Given the description of an element on the screen output the (x, y) to click on. 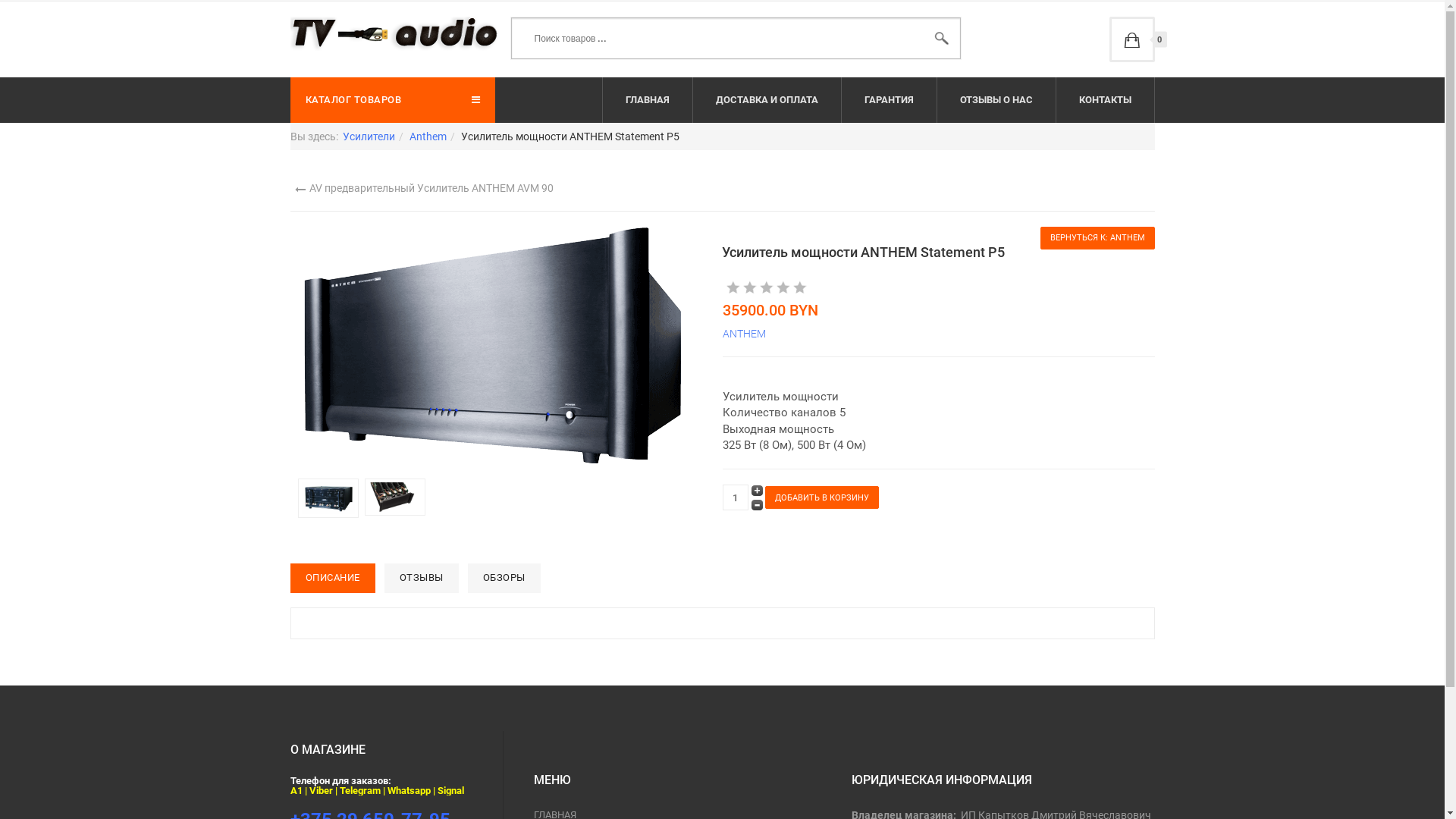
1 Element type: text (732, 287)
0 Element type: text (1131, 39)
5 Element type: text (766, 287)
ANTHEM Element type: text (743, 333)
3 Element type: text (749, 287)
2 Element type: text (741, 287)
e90aff88c6dbd11f08cf2a6d76885d86 Element type: hover (330, 497)
Tv-audio.by  Element type: hover (394, 33)
Anthem Element type: text (427, 136)
4 Element type: text (757, 287)
p5-guts Element type: hover (397, 495)
